Given the description of an element on the screen output the (x, y) to click on. 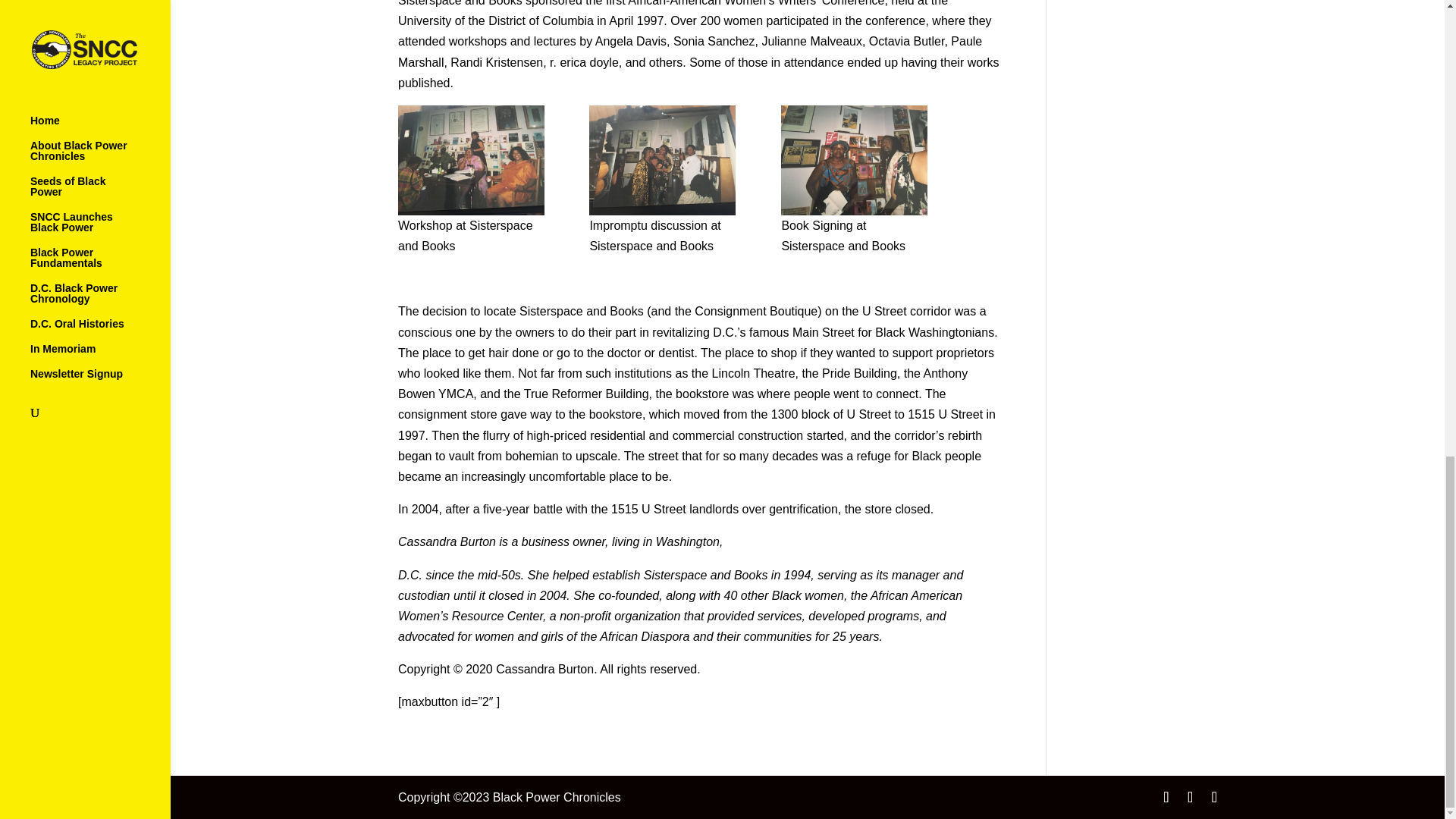
Book Signing at Sisterspace and Books (853, 160)
Impromptu discussion at Sisterspace and Books (662, 160)
Workshop at Sisterspace and Books (470, 160)
